Given the description of an element on the screen output the (x, y) to click on. 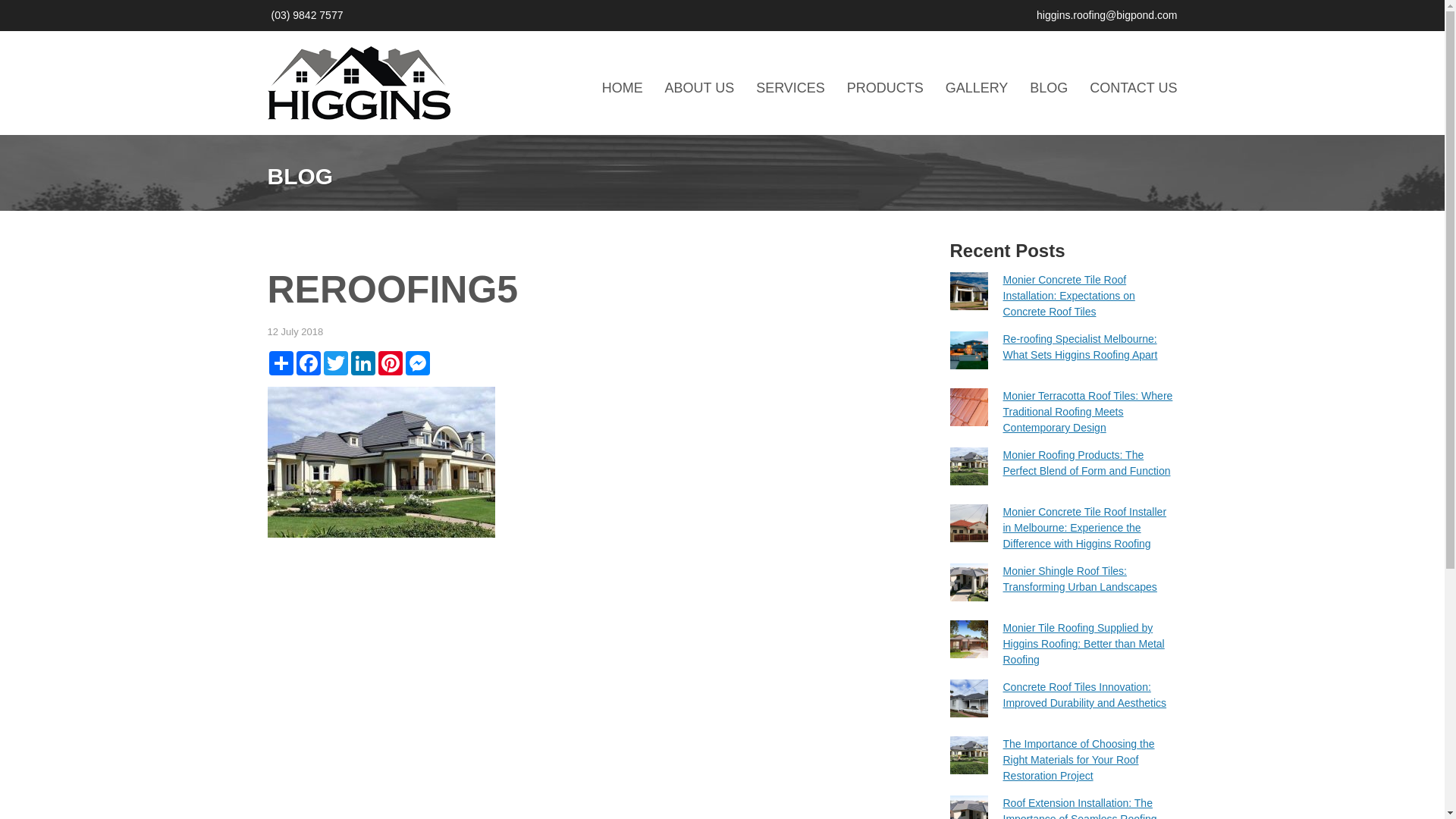
Twitter Element type: text (334, 363)
SERVICES Element type: text (790, 87)
BLOG Element type: text (1048, 87)
Share Element type: text (280, 363)
GALLERY Element type: text (976, 87)
PRODUCTS Element type: text (885, 87)
Monier Shingle Roof Tiles: Transforming Urban Landscapes Element type: text (1079, 578)
ABOUT US Element type: text (699, 87)
Pinterest Element type: text (389, 363)
HOME Element type: text (622, 87)
LinkedIn Element type: text (362, 363)
Messenger Element type: text (416, 363)
Facebook Element type: text (307, 363)
CONTACT US Element type: text (1132, 87)
higgins.roofing@bigpond.com Element type: text (1106, 15)
